Given the description of an element on the screen output the (x, y) to click on. 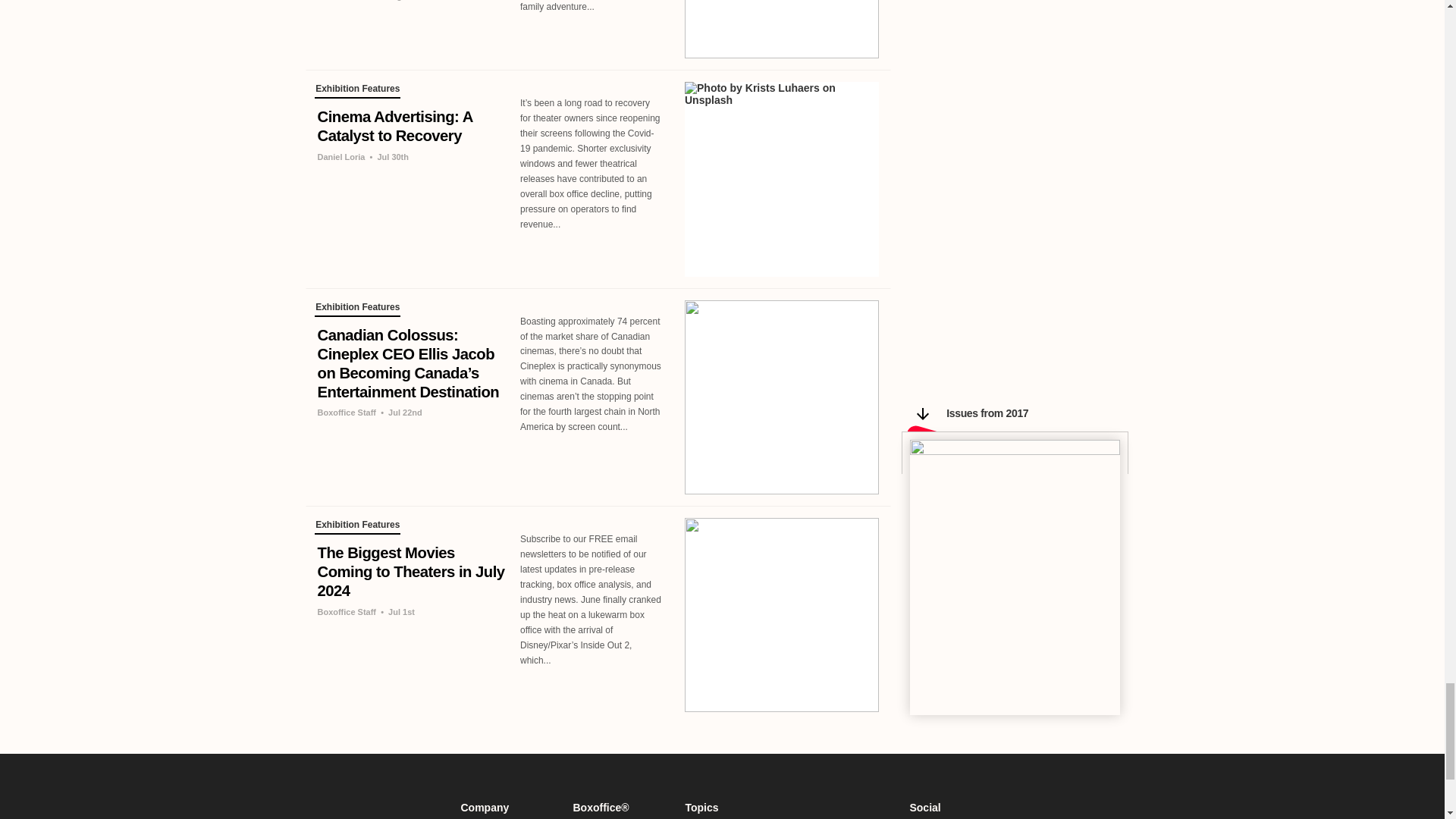
Company (508, 807)
Exhibition Features (357, 309)
Exhibition Features (357, 526)
Exhibition Features (357, 90)
